Given the description of an element on the screen output the (x, y) to click on. 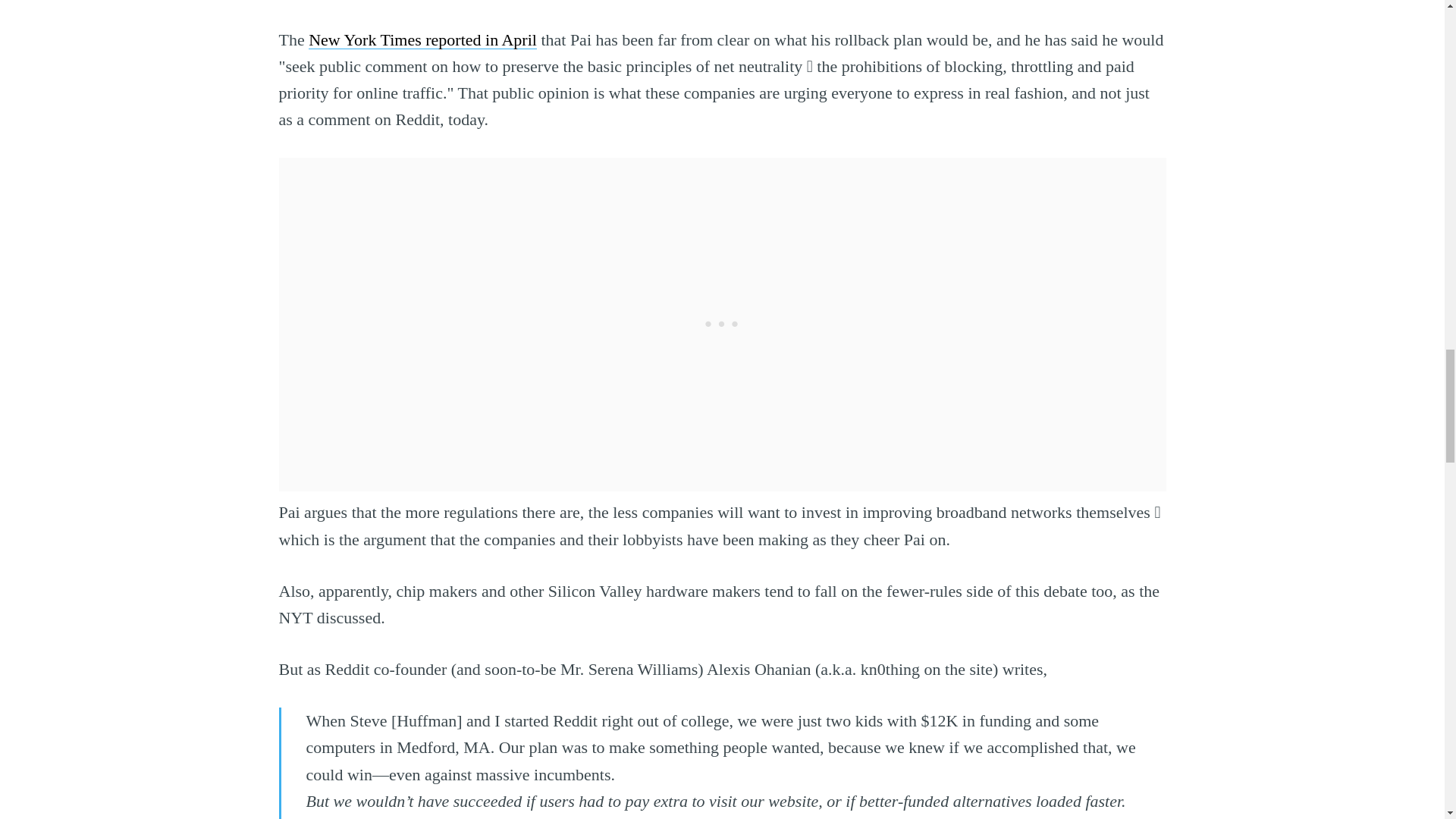
New York Times reported in April (422, 39)
